Given the description of an element on the screen output the (x, y) to click on. 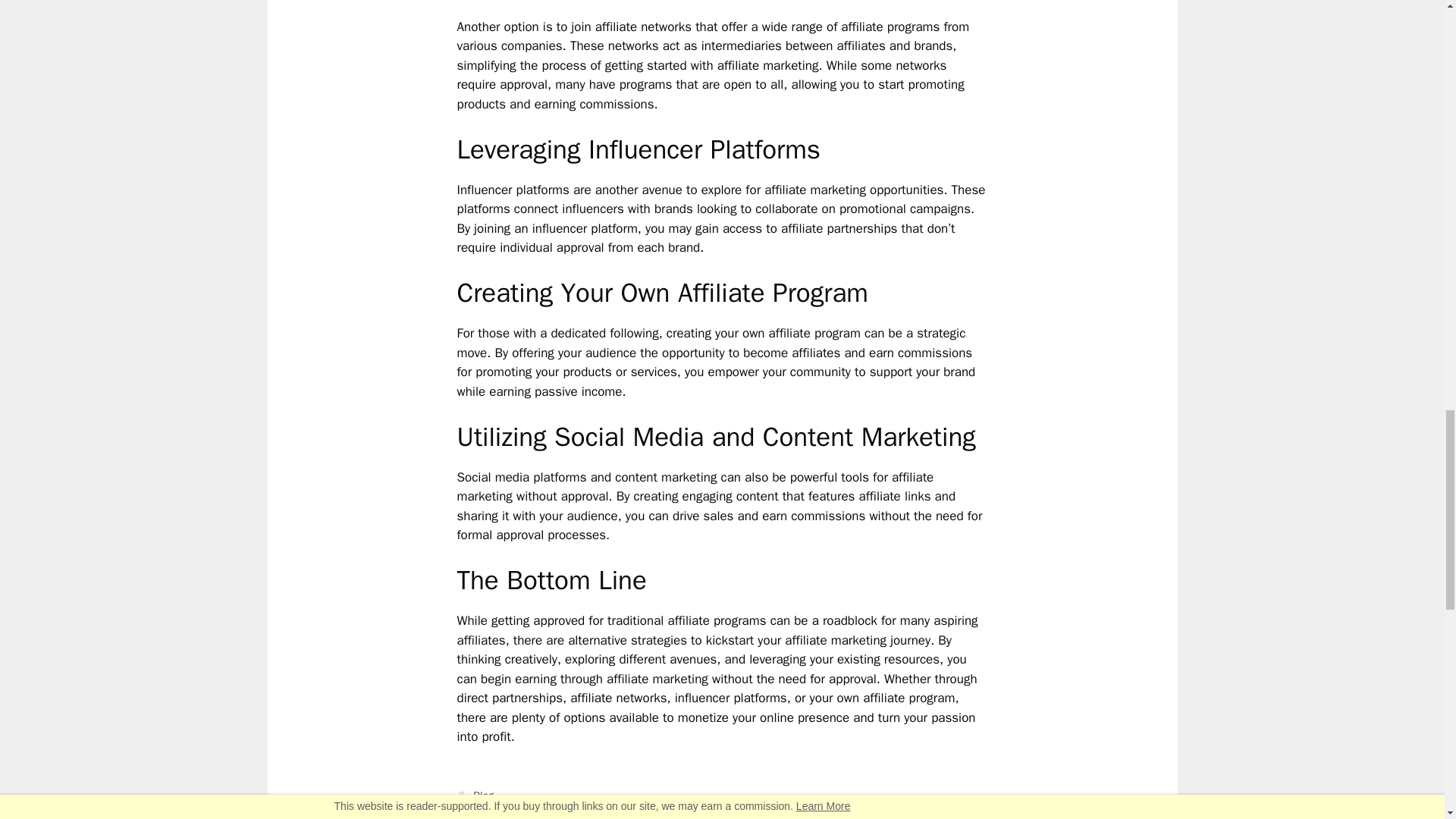
Discover the Best Ways to Find an Affiliate Marketing Mentor (617, 812)
Blog (483, 795)
